Given the description of an element on the screen output the (x, y) to click on. 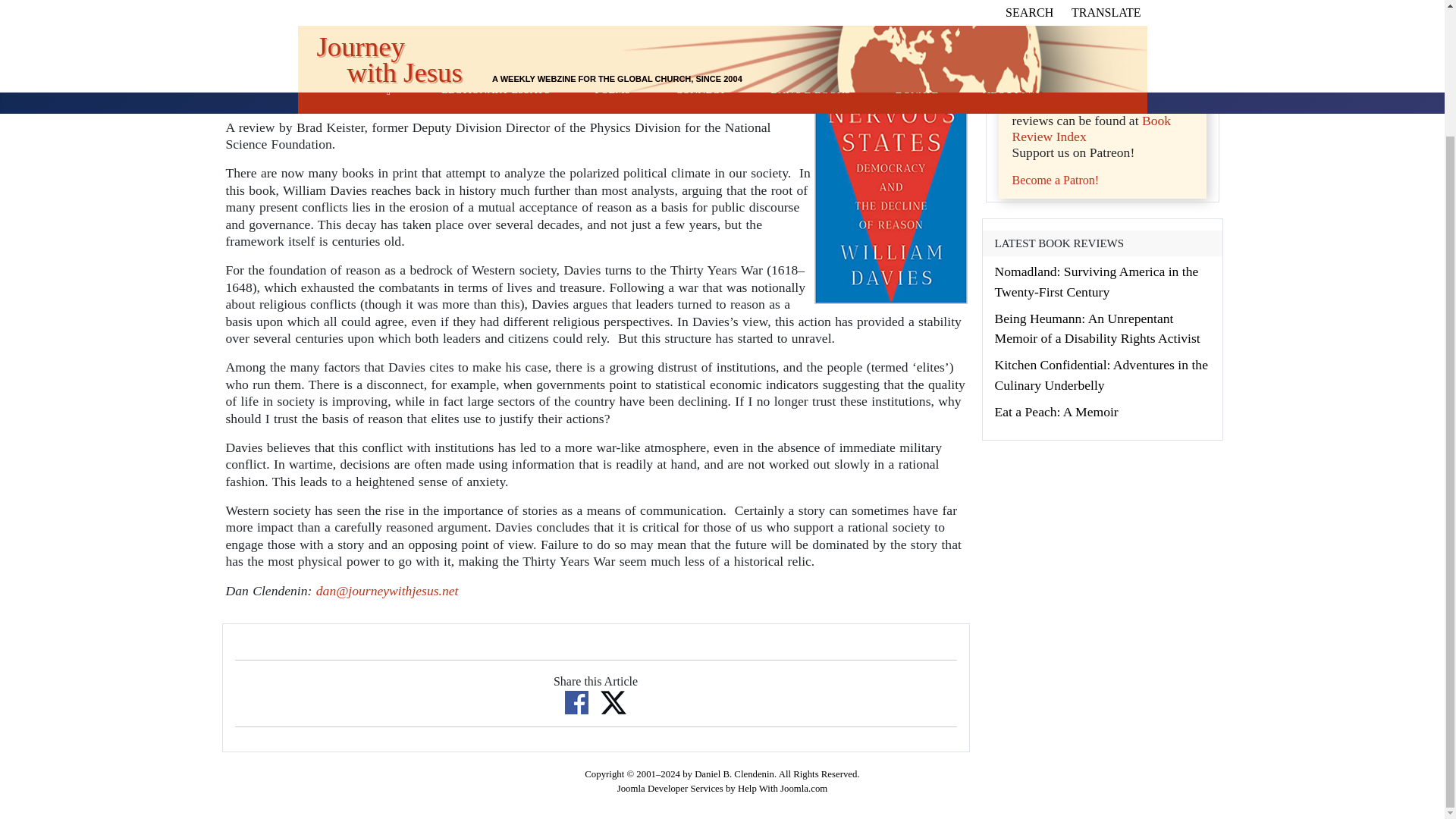
Become a Patron! (1055, 179)
Kitchen Confidential: Adventures in the Culinary Underbelly (1101, 374)
Nomadland: Surviving America in the Twenty-First Century (1096, 280)
Book Review Index (1090, 128)
Eat a Peach: A Memoir (1056, 411)
Help With Joomla.com (782, 787)
